Given the description of an element on the screen output the (x, y) to click on. 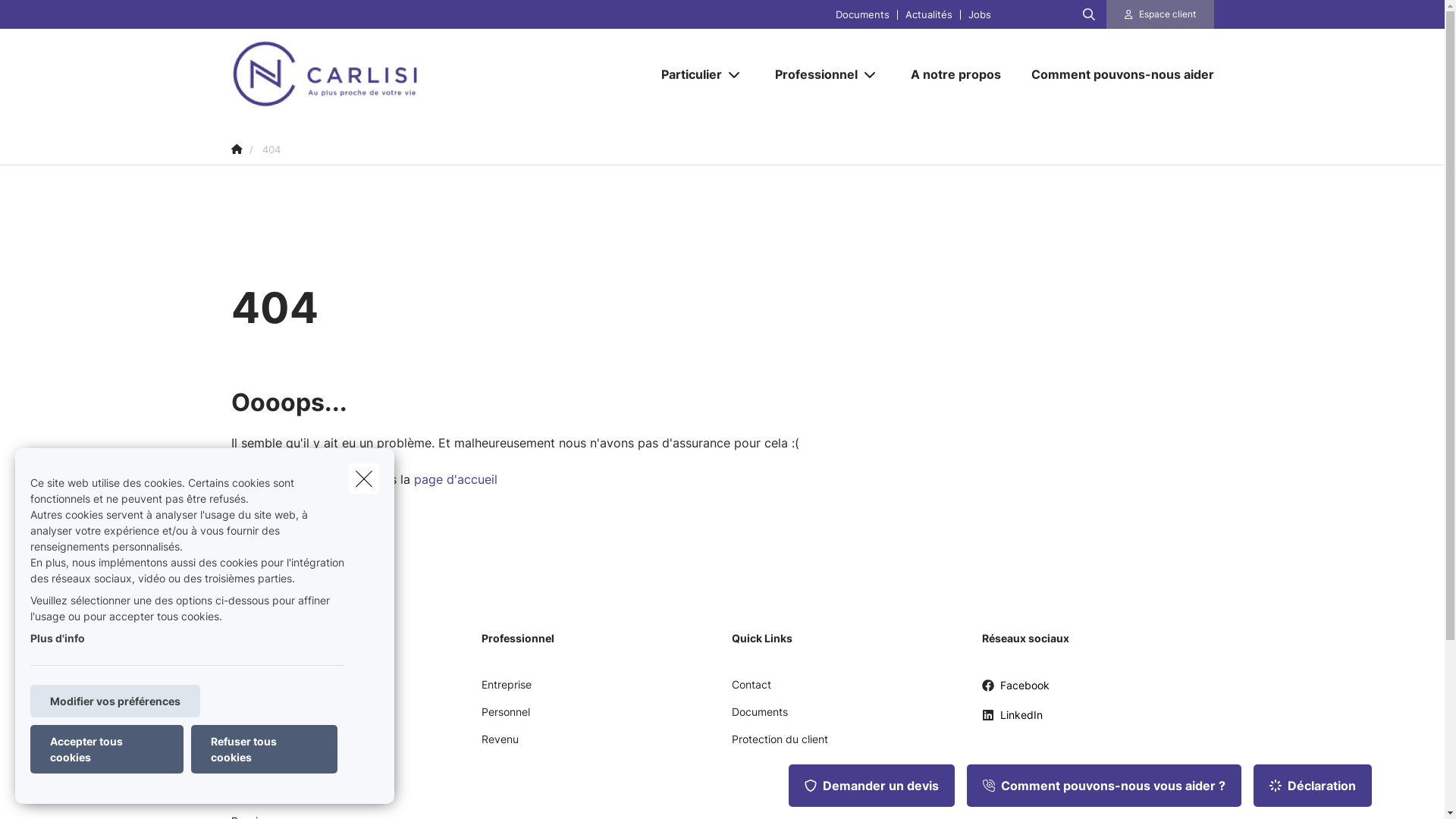
Personnel Element type: text (504, 717)
page d'accueil Element type: text (455, 478)
Documents Element type: text (759, 717)
Plus d'info Element type: text (57, 637)
Habitation Element type: text (255, 717)
Rechercher Element type: text (54, 18)
A notre propos Element type: text (954, 73)
Refuser tous cookies Element type: text (264, 748)
Particulier Element type: text (685, 73)
Jobs Element type: text (979, 13)
Espace client Element type: text (1160, 14)
Accepter tous cookies Element type: text (106, 748)
Famille et protection juridique Element type: text (303, 744)
Professionnel Element type: text (810, 73)
Hospitalisation Element type: text (266, 771)
Revenu Element type: text (498, 744)
Espace client Element type: text (1167, 14)
Comment pouvons-nous aider Element type: text (1115, 73)
Facebook Element type: text (1014, 691)
Contact Element type: text (750, 689)
Protection du client Element type: text (779, 744)
Documents Element type: text (862, 13)
Entreprise Element type: text (505, 689)
LinkedIn Element type: text (1011, 720)
